Given the description of an element on the screen output the (x, y) to click on. 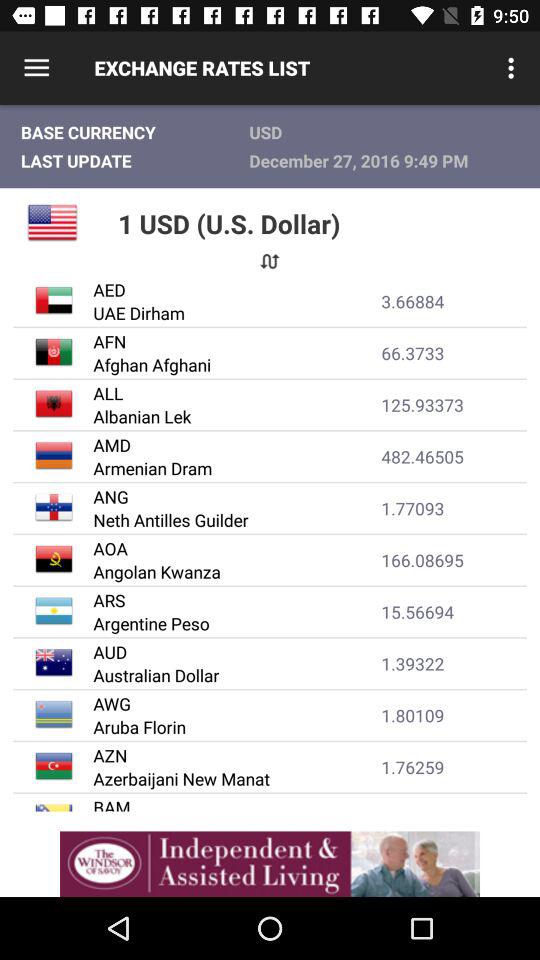
adverdisment line (270, 864)
